Given the description of an element on the screen output the (x, y) to click on. 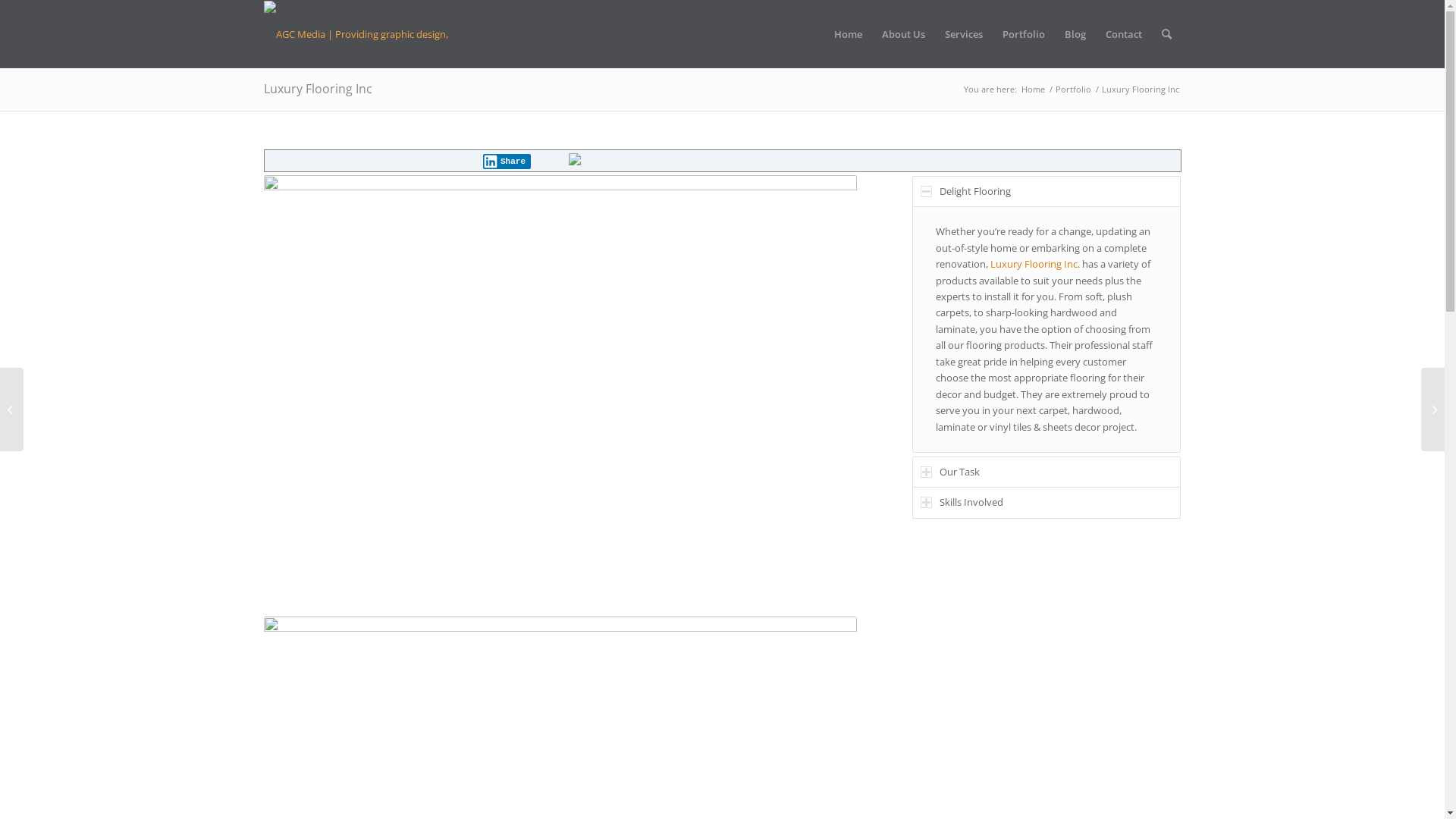
Home Element type: text (847, 33)
About Us Element type: text (903, 33)
Blog Element type: text (1074, 33)
Luxury Flooring Inc Element type: text (1033, 263)
Luxury Flooring Inc Element type: text (317, 88)
Portfolio Element type: text (1072, 88)
Share Element type: text (506, 161)
Contact Element type: text (1123, 33)
Portfolio Element type: text (1022, 33)
Services Element type: text (962, 33)
Home Element type: text (1033, 88)
luxury-flooring-inc-business-card Element type: hover (559, 388)
